Given the description of an element on the screen output the (x, y) to click on. 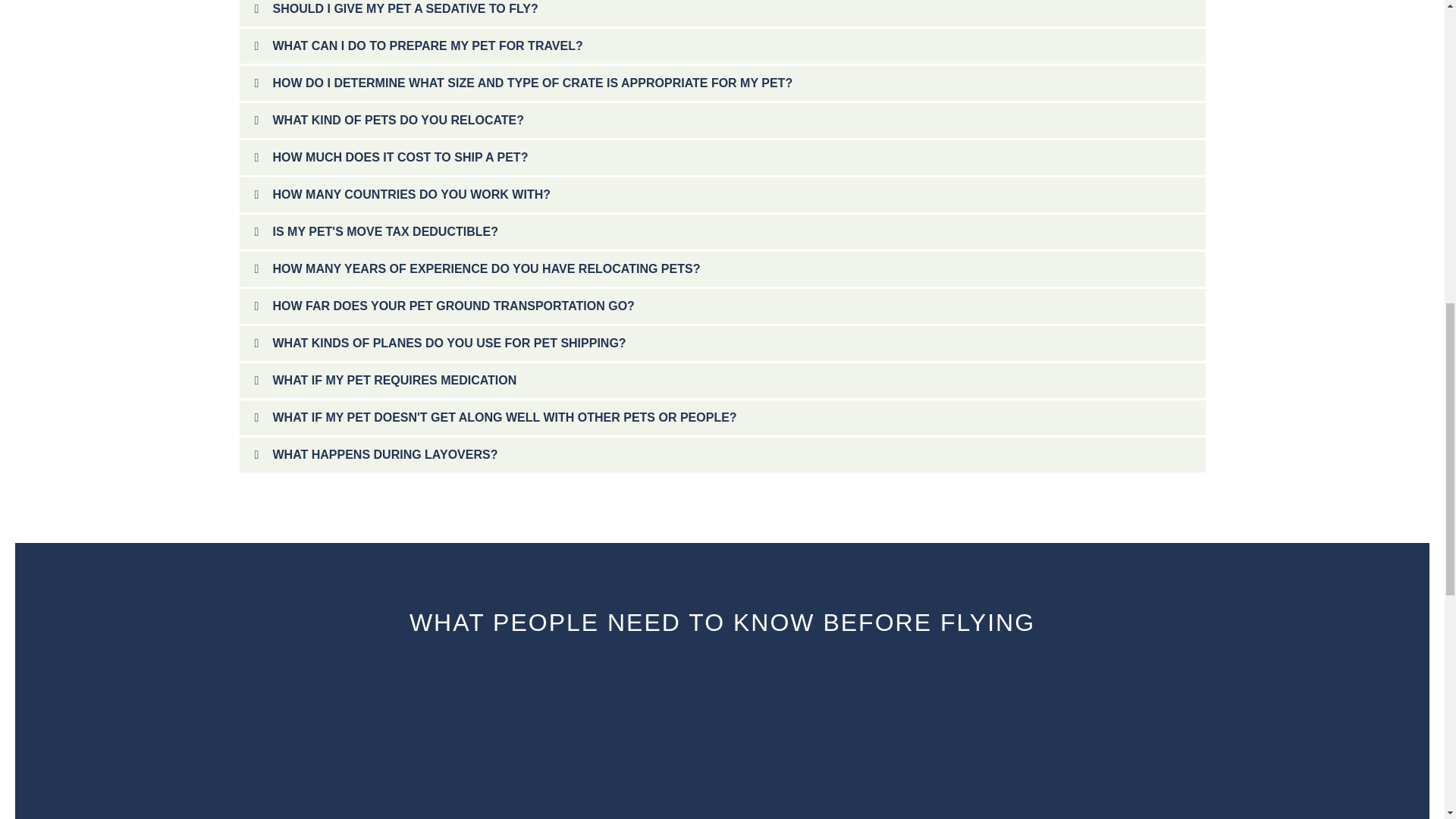
SHOULD I GIVE MY PET A SEDATIVE TO FLY? (405, 8)
WHAT CAN I DO TO PREPARE MY PET FOR TRAVEL? (428, 45)
